Given the description of an element on the screen output the (x, y) to click on. 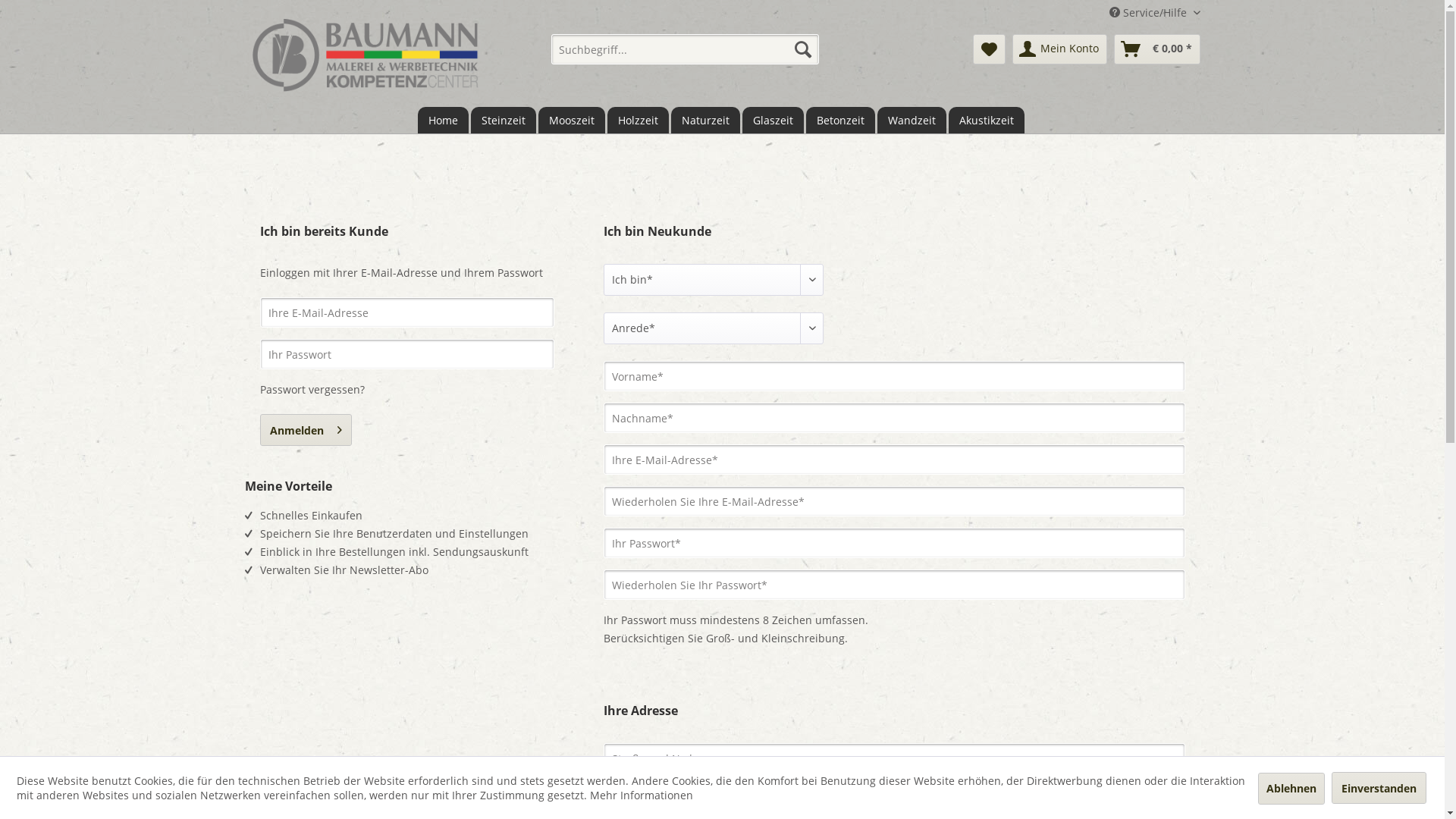
Merkzettel Element type: hover (988, 49)
Mooszeit Element type: text (571, 119)
Glaszeit Element type: text (772, 119)
baumann.raumzeit.cc - zur Startseite wechseln Element type: hover (364, 54)
Wandzeit Element type: text (911, 119)
Anmelden Element type: text (305, 429)
Betonzeit Element type: text (840, 119)
Naturzeit Element type: text (705, 119)
Mein Konto Element type: text (1058, 49)
Mehr Informationen Element type: text (641, 794)
Home Element type: text (442, 119)
Holzzeit Element type: text (637, 119)
Ablehnen Element type: text (1291, 788)
Akustikzeit Element type: text (986, 119)
Einverstanden Element type: text (1378, 787)
Steinzeit Element type: text (503, 119)
Passwort vergessen? Element type: text (311, 389)
